Given the description of an element on the screen output the (x, y) to click on. 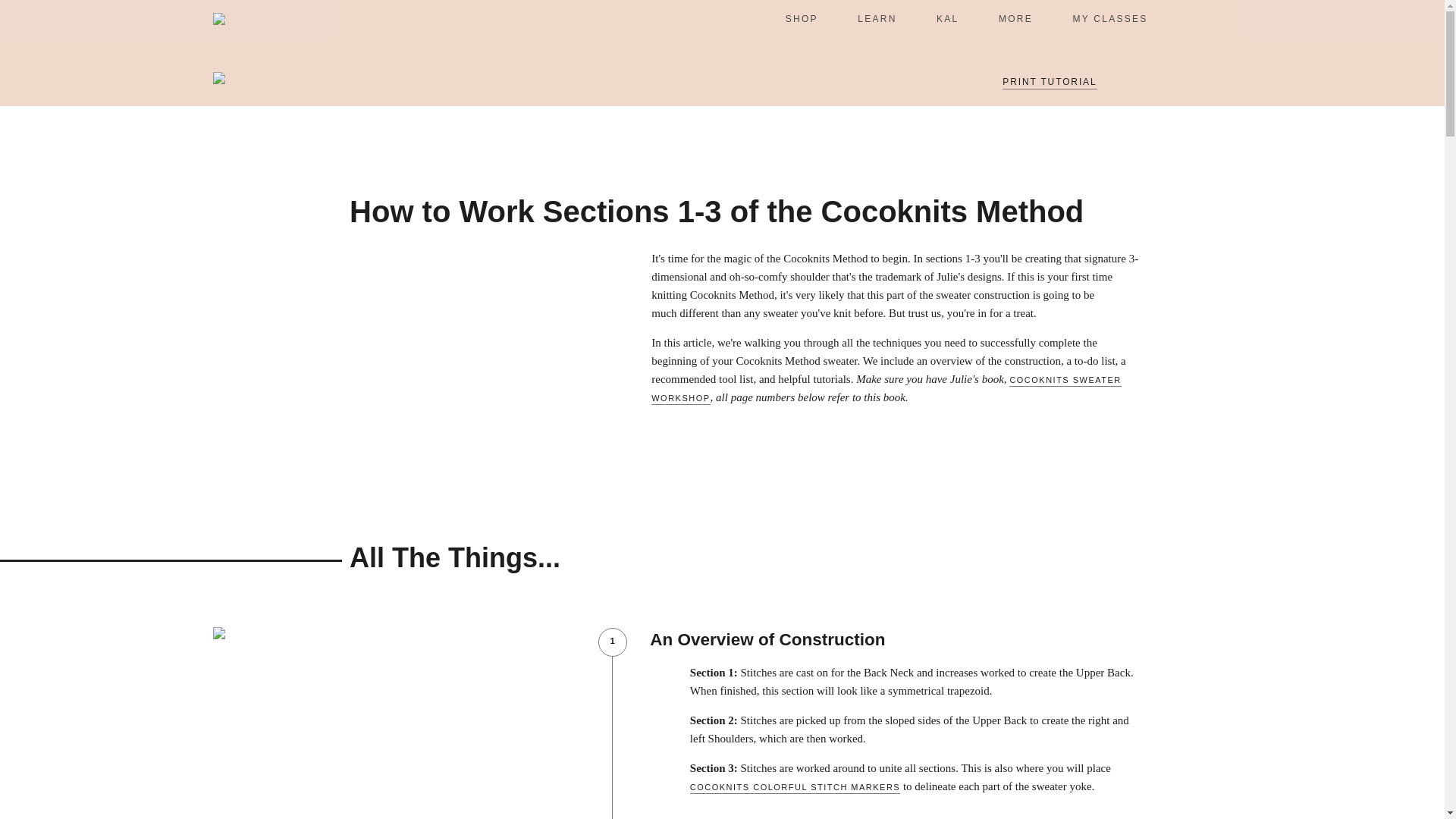
SHOP (801, 18)
Account (1219, 18)
PRINT TUTORIAL (1049, 82)
MY CLASSES (1109, 18)
LEARN (877, 18)
KAL (947, 18)
COCOKNITS SWEATER WORKSHOP (885, 389)
MORE (1015, 18)
